Given the description of an element on the screen output the (x, y) to click on. 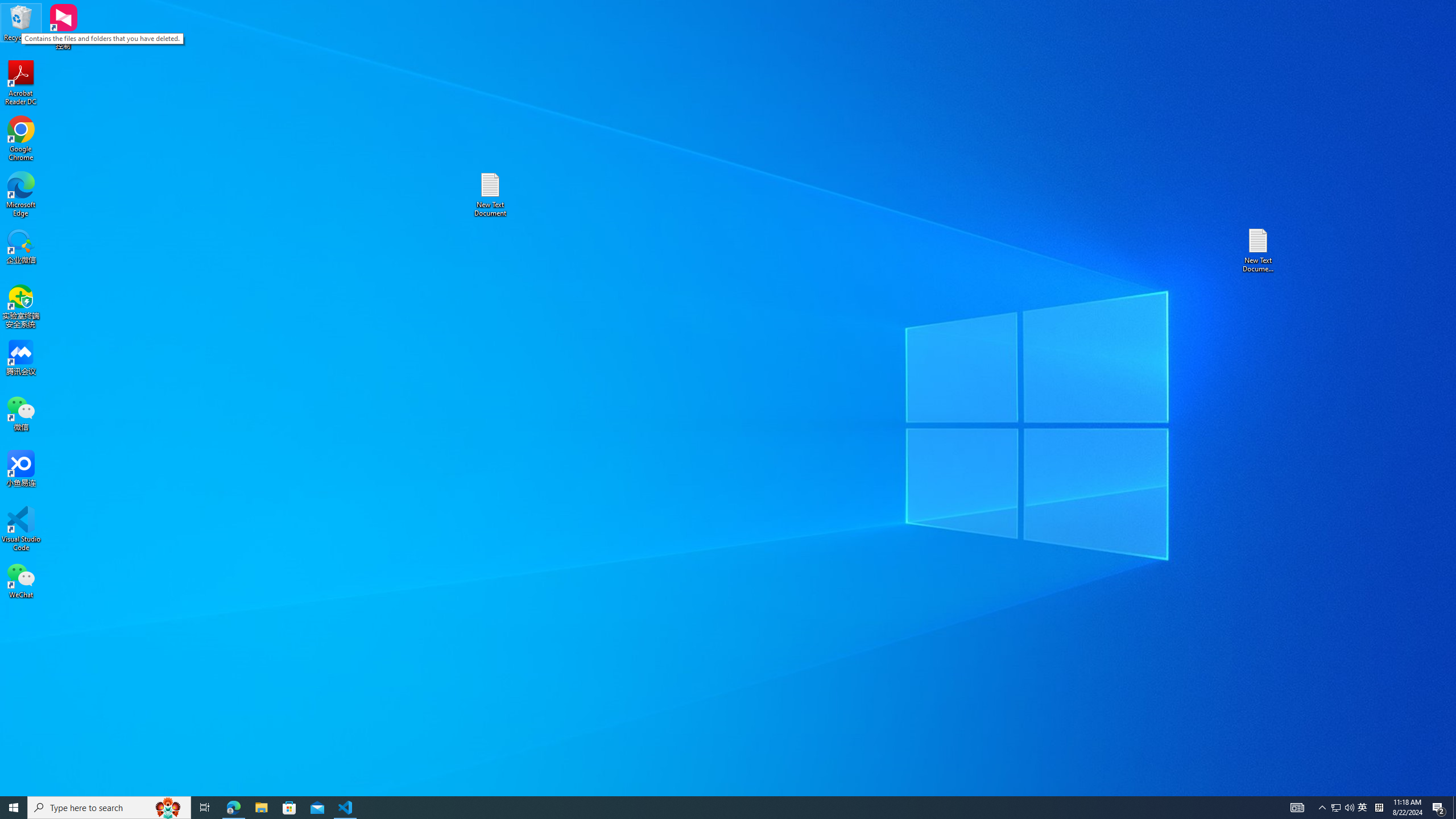
Acrobat Reader DC (21, 82)
Recycle Bin (1362, 807)
Google Chrome (21, 22)
New Text Document (21, 138)
